Given the description of an element on the screen output the (x, y) to click on. 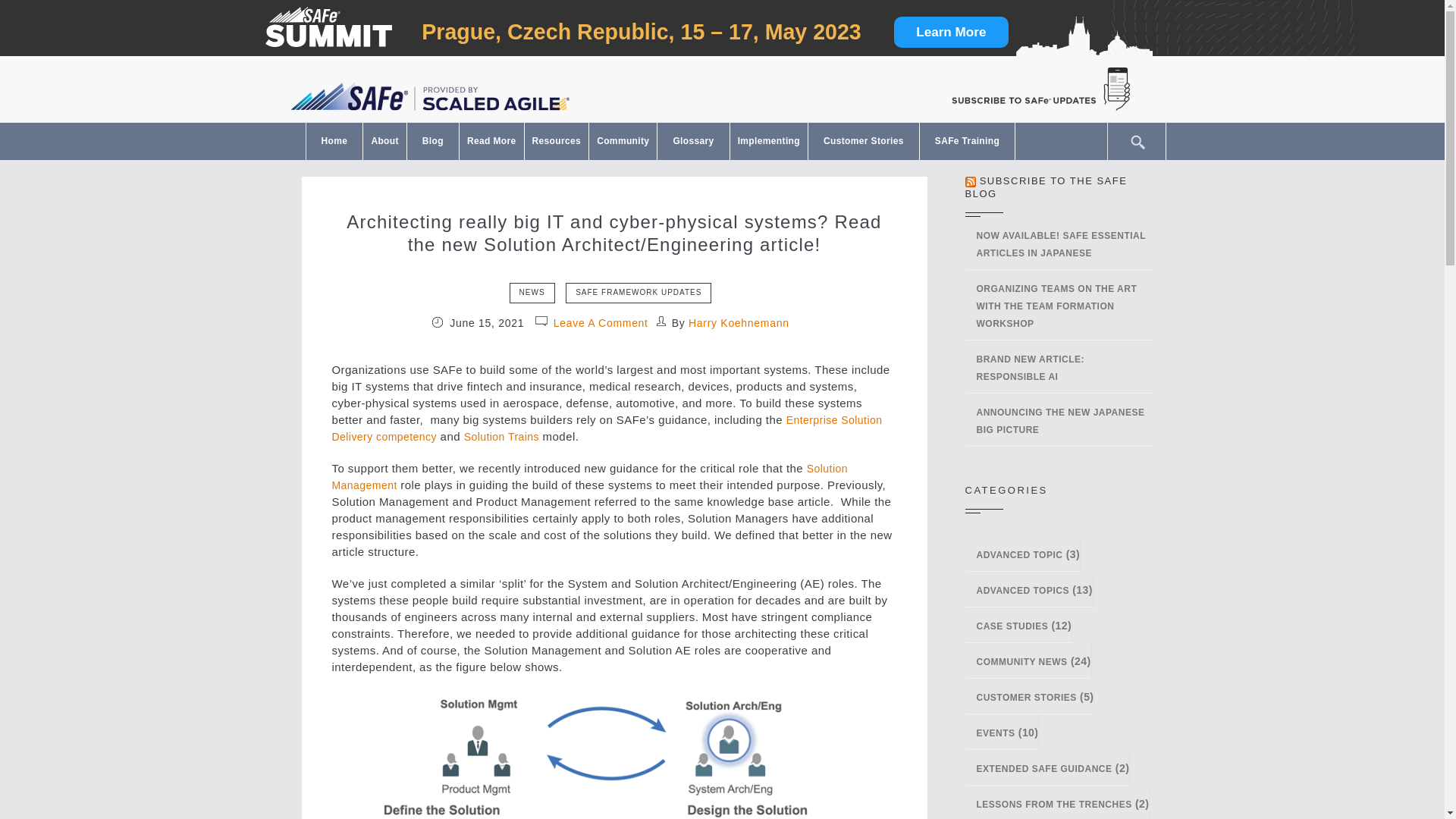
SAFe Training (967, 140)
Home (333, 140)
Glossary (693, 140)
Community (622, 140)
Read More (492, 140)
Implementing (769, 140)
Resources (556, 140)
About (384, 140)
Customer Stories (863, 140)
Blog (432, 140)
